Given the description of an element on the screen output the (x, y) to click on. 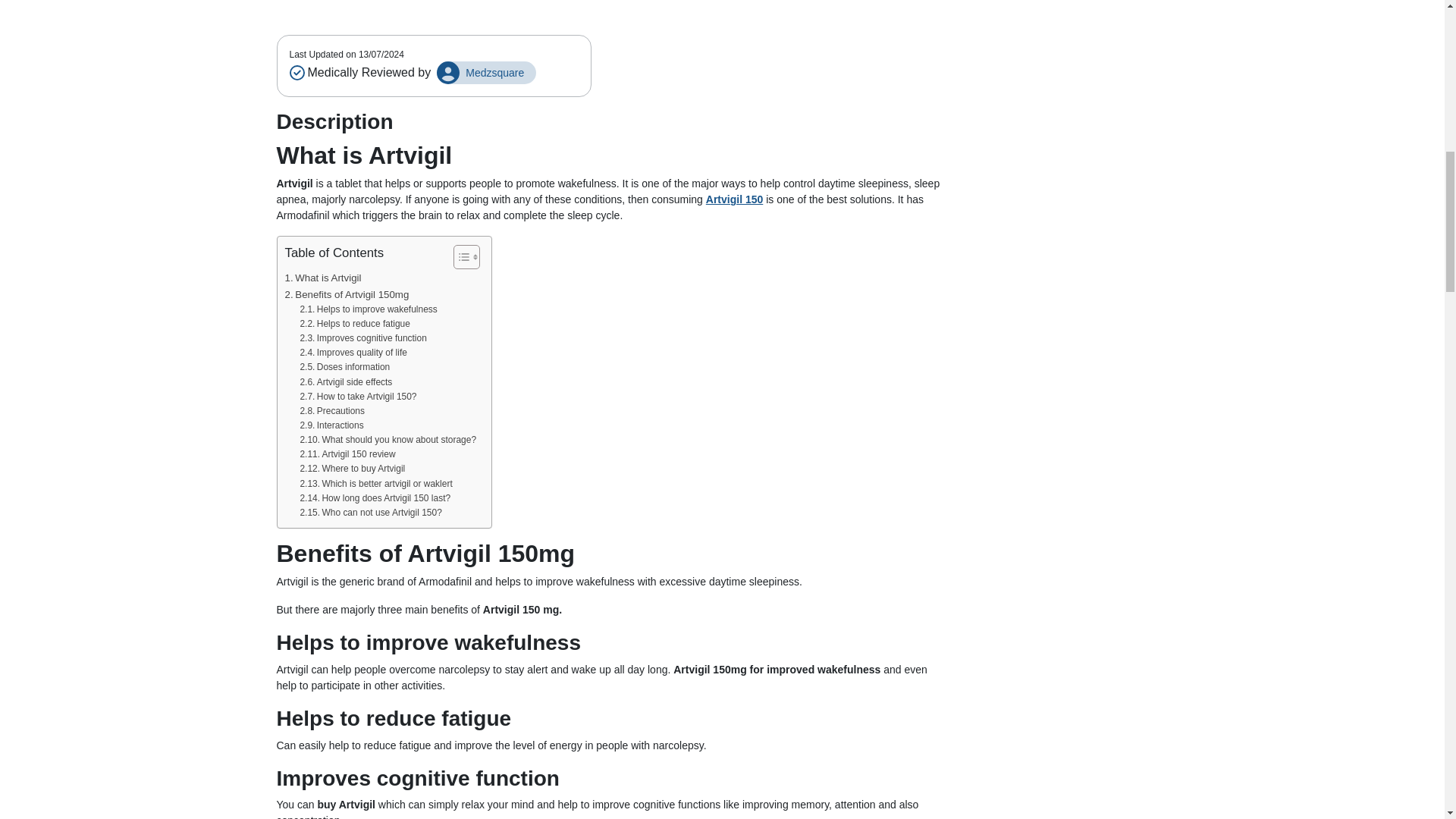
What should you know about storage? (387, 440)
Improves quality of life (352, 352)
Artvigil side effects (345, 382)
Helps to improve wakefulness (367, 309)
Interactions (330, 425)
Precautions (332, 411)
How to take Artvigil 150? (357, 396)
Benefits of Artvigil 150mg (347, 294)
Improves cognitive function (362, 338)
Helps to reduce fatigue (354, 323)
What is Artvigil (323, 277)
Doses information (344, 367)
